Given the description of an element on the screen output the (x, y) to click on. 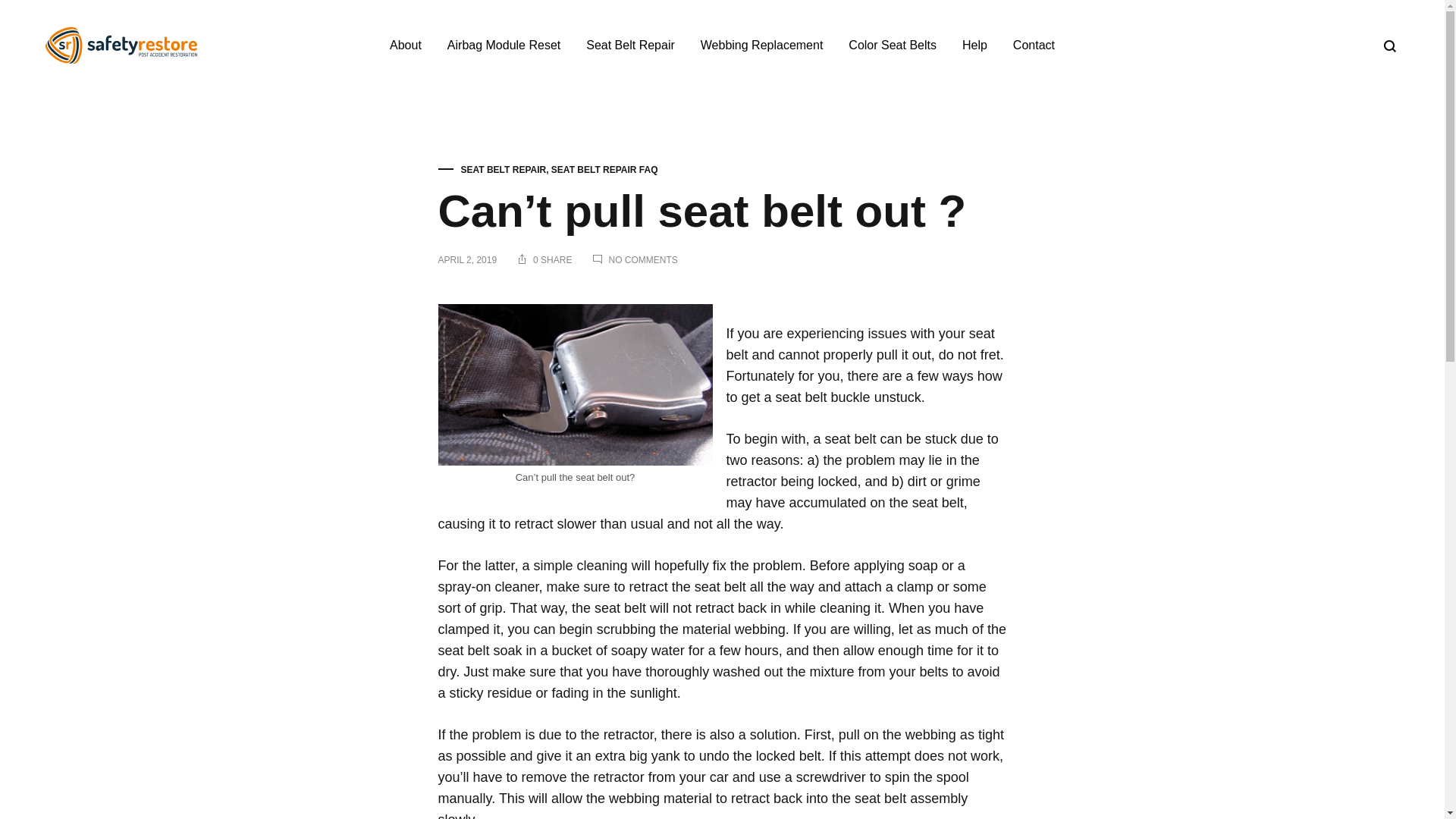
About (406, 45)
SEAT BELT REPAIR (504, 169)
Seat Belt Repair (630, 45)
Help (974, 45)
Airbag Module Reset (503, 45)
SEAT BELT REPAIR FAQ (604, 169)
Color Seat Belts (892, 45)
Contact (1033, 45)
Webbing Replacement (762, 45)
